Given the description of an element on the screen output the (x, y) to click on. 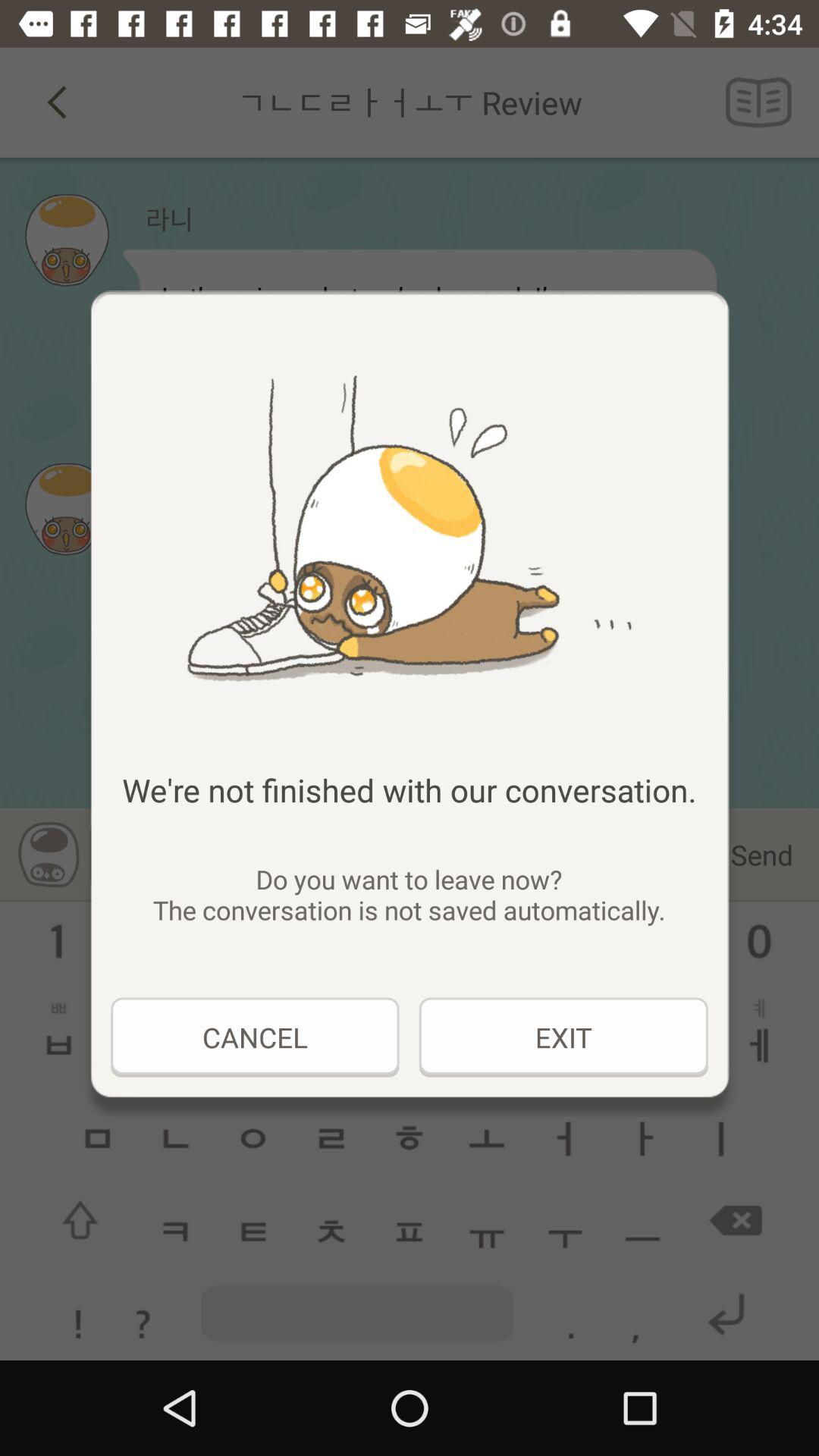
tap cancel (254, 1037)
